Given the description of an element on the screen output the (x, y) to click on. 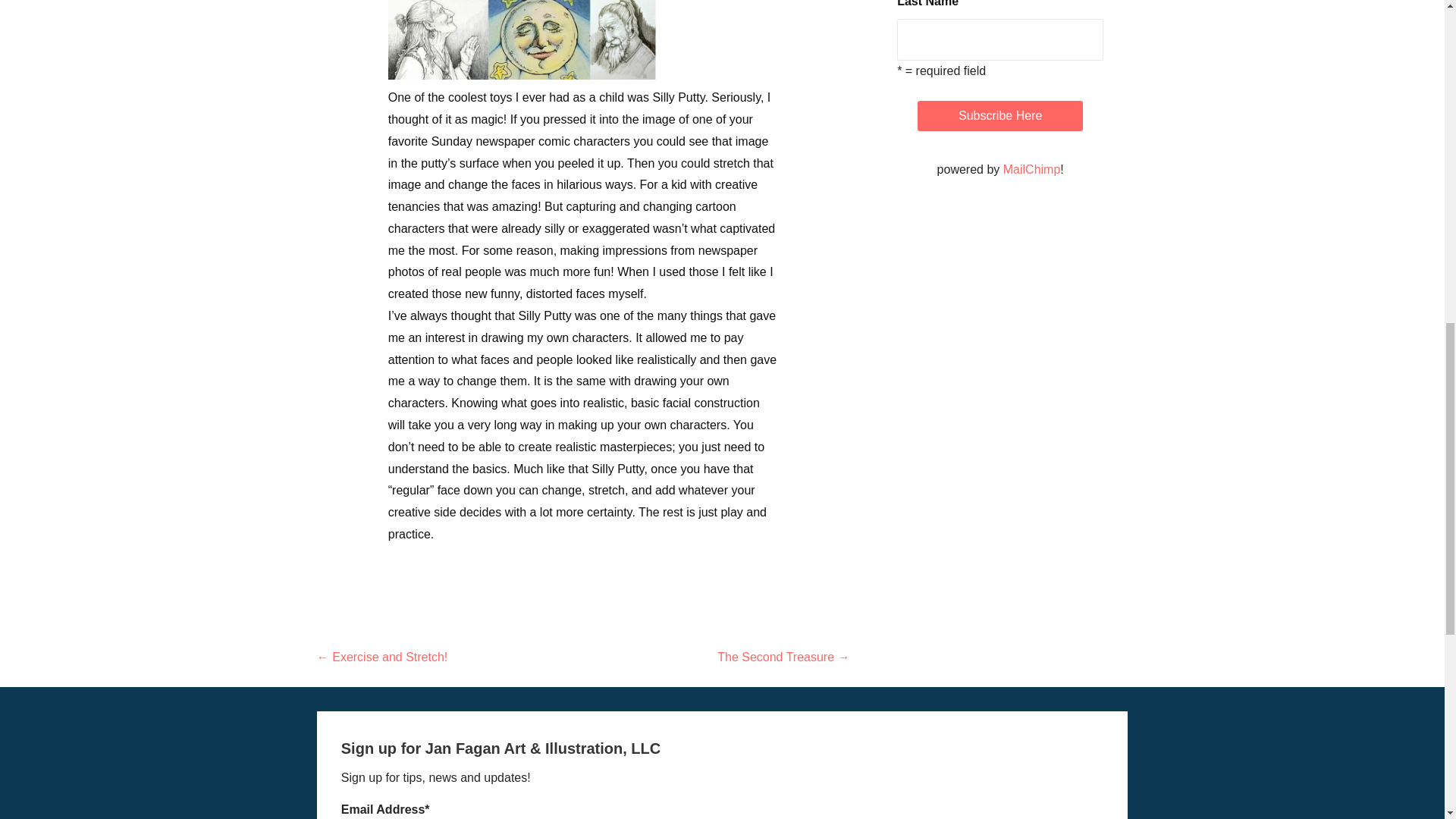
MailChimp (1032, 169)
Subscribe Here (1000, 115)
Subscribe Here (1000, 115)
